Given the description of an element on the screen output the (x, y) to click on. 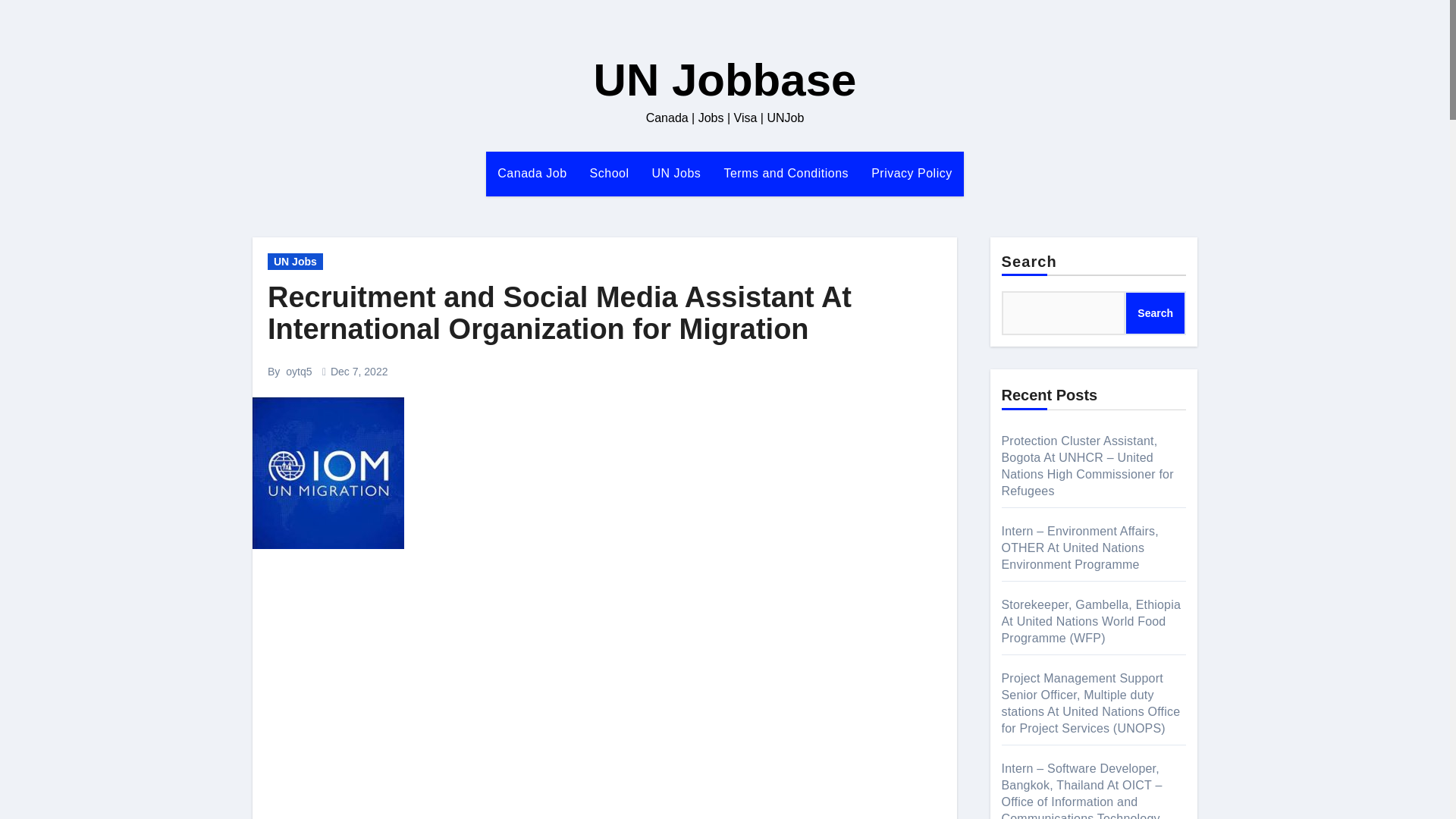
UN Jobbase (725, 79)
Terms and Conditions (785, 173)
Canada Job (532, 173)
UN Jobs (676, 173)
UN Jobs (676, 173)
Terms and Conditions (785, 173)
oytq5 (298, 371)
Privacy Policy (911, 173)
UN Jobs (295, 261)
School (609, 173)
Canada Job (532, 173)
School (609, 173)
Privacy Policy (911, 173)
